Given the description of an element on the screen output the (x, y) to click on. 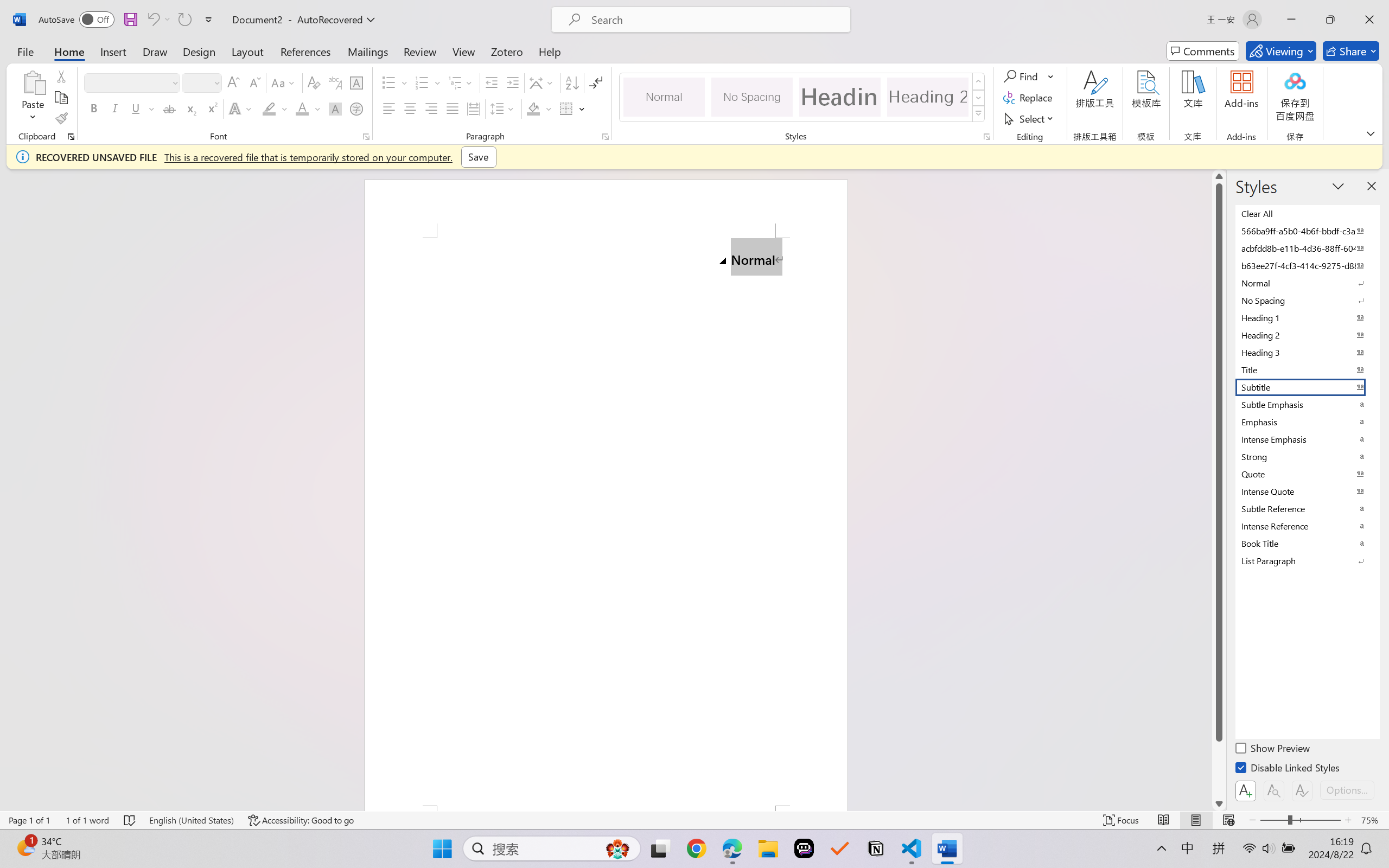
Can't Undo (158, 19)
Increase Indent (512, 82)
Center (409, 108)
Show/Hide Editing Marks (595, 82)
Quote (1306, 473)
Strong (1306, 456)
